Given the description of an element on the screen output the (x, y) to click on. 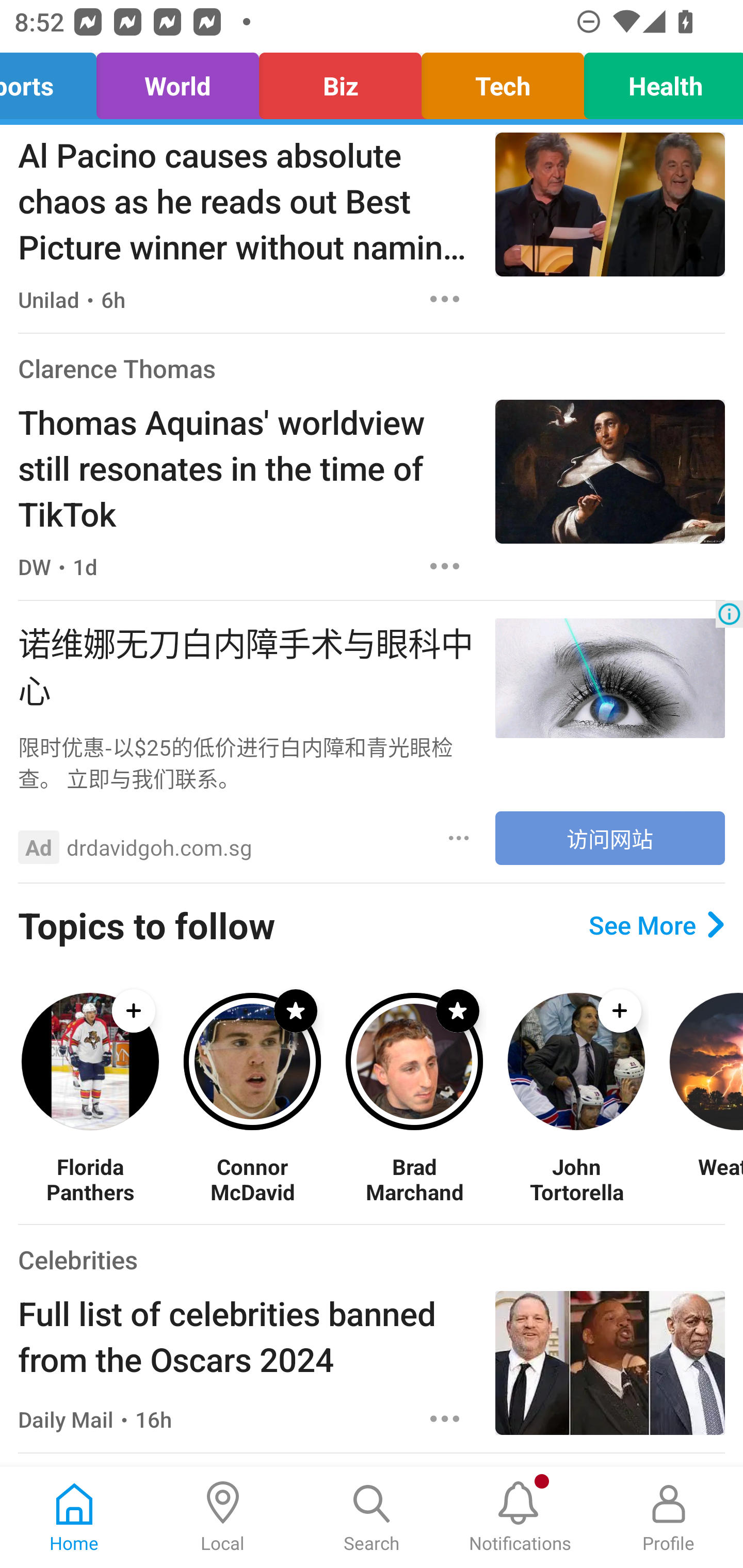
World (177, 81)
Biz (340, 81)
Tech (502, 81)
Health (658, 81)
Options (444, 299)
Clarence Thomas (116, 368)
Options (444, 566)
Ad Choices Icon (729, 613)
诺维娜无刀白内障手术与眼科中心 (247, 664)
限时优惠-以$25的低价进行白内障和青光眼检查。 立即与我们联系。 (247, 761)
访问网站 (610, 837)
Options (459, 838)
drdavidgoh.com.sg (159, 847)
See More (656, 924)
Florida Panthers (89, 1178)
Connor McDavid (251, 1178)
Brad Marchand (413, 1178)
John Tortorella (575, 1178)
Celebrities (77, 1258)
Options (444, 1418)
Local (222, 1517)
Search (371, 1517)
Notifications, New notification Notifications (519, 1517)
Profile (668, 1517)
